Given the description of an element on the screen output the (x, y) to click on. 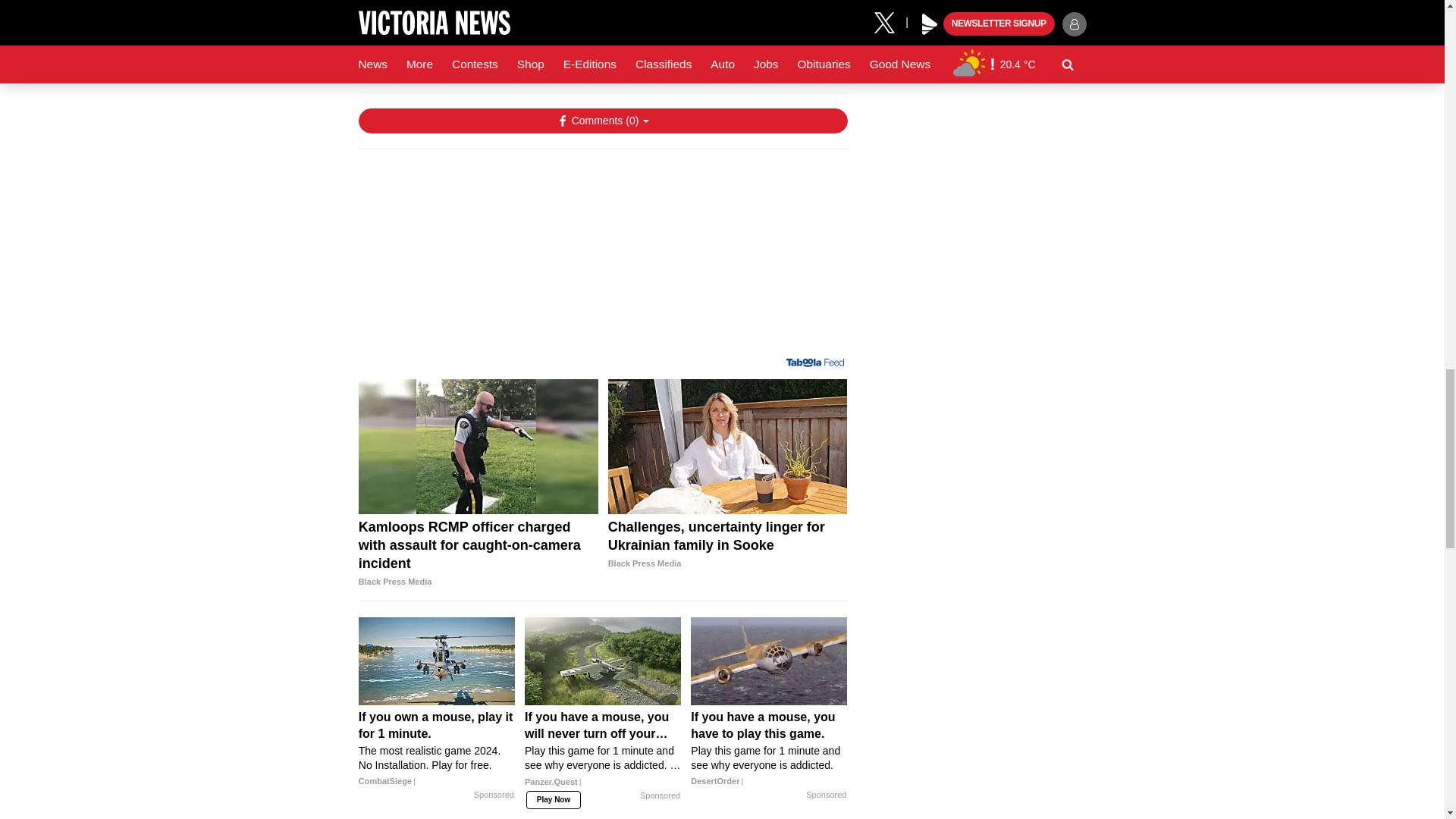
Challenges, uncertainty linger for Ukrainian family in Sooke (727, 544)
Show Comments (602, 120)
3rd party ad content (602, 258)
If you own a mouse, play it for 1 minute. (436, 749)
Challenges, uncertainty linger for Ukrainian family in Sooke (727, 446)
If you own a mouse, play it for 1 minute. (436, 661)
